Given the description of an element on the screen output the (x, y) to click on. 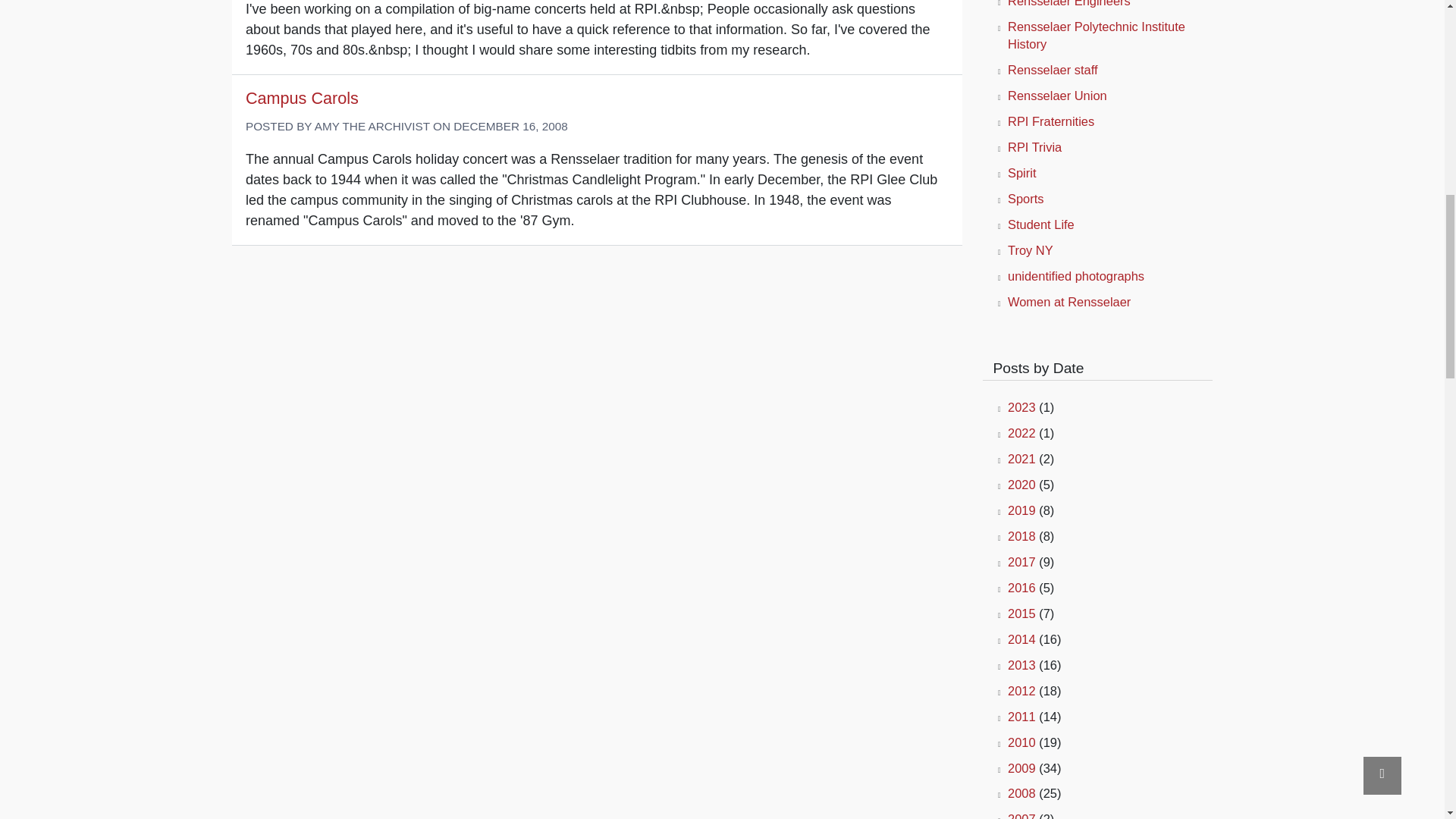
2022 (1021, 432)
unidentified photographs (1075, 275)
RPI Fraternities (1050, 120)
Women at Rensselaer (1069, 301)
Troy NY (1029, 250)
RPI Trivia (1034, 146)
2019 (1021, 509)
Rensselaer Polytechnic Institute History (1096, 34)
2023 (1021, 407)
2020 (1021, 484)
Rensselaer Union (1056, 95)
Spirit (1021, 172)
Sports (1025, 198)
Rensselaer Engineers (1069, 3)
2021 (1021, 459)
